Given the description of an element on the screen output the (x, y) to click on. 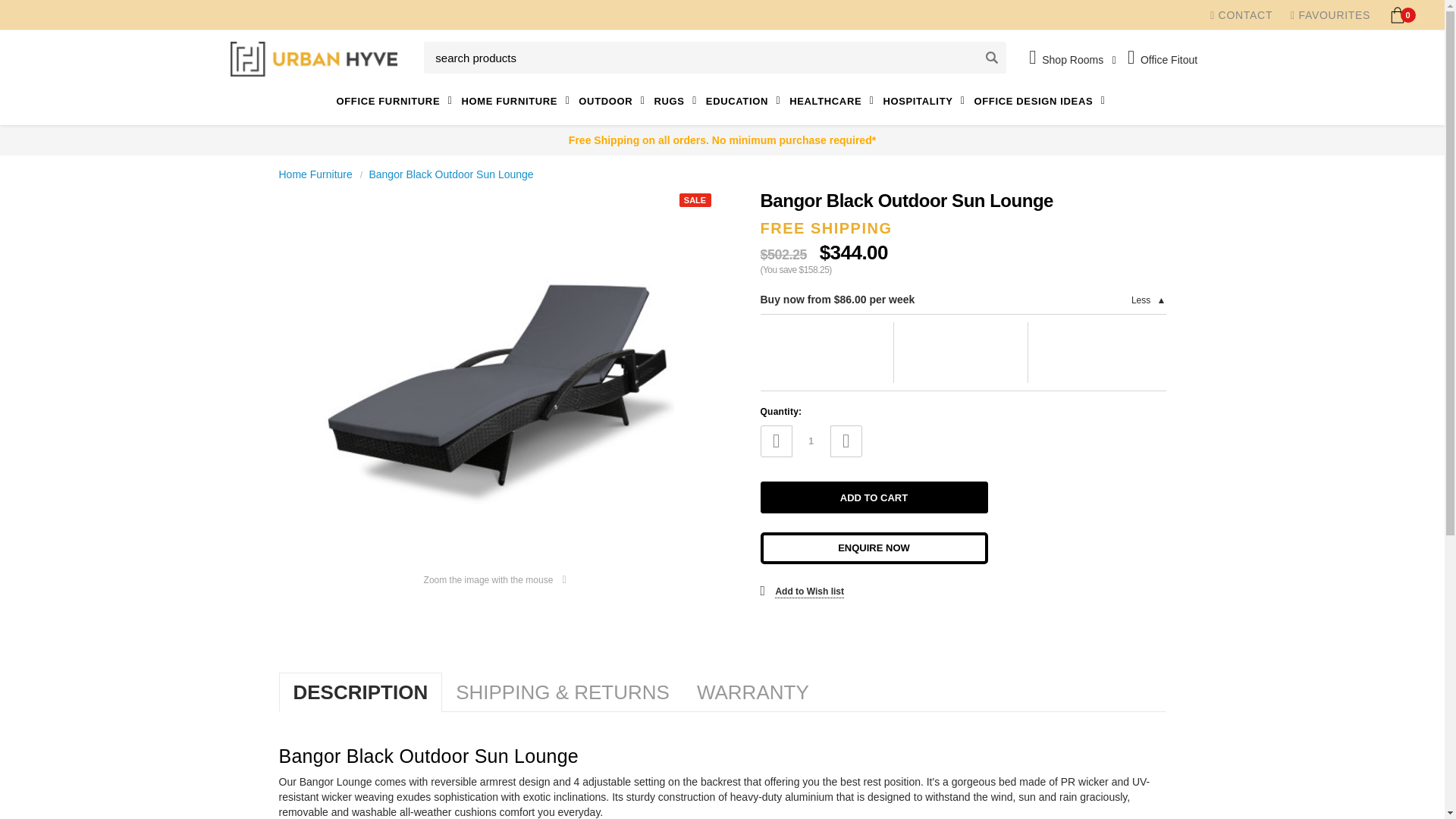
Urban Hyve (313, 58)
HOME FURNITURE (516, 100)
1 (810, 441)
HEALTHCARE (832, 100)
OUTDOOR (612, 100)
EDUCATION (744, 100)
0 (1397, 13)
  Shop Rooms   (1072, 59)
Add to Cart (873, 497)
